Given the description of an element on the screen output the (x, y) to click on. 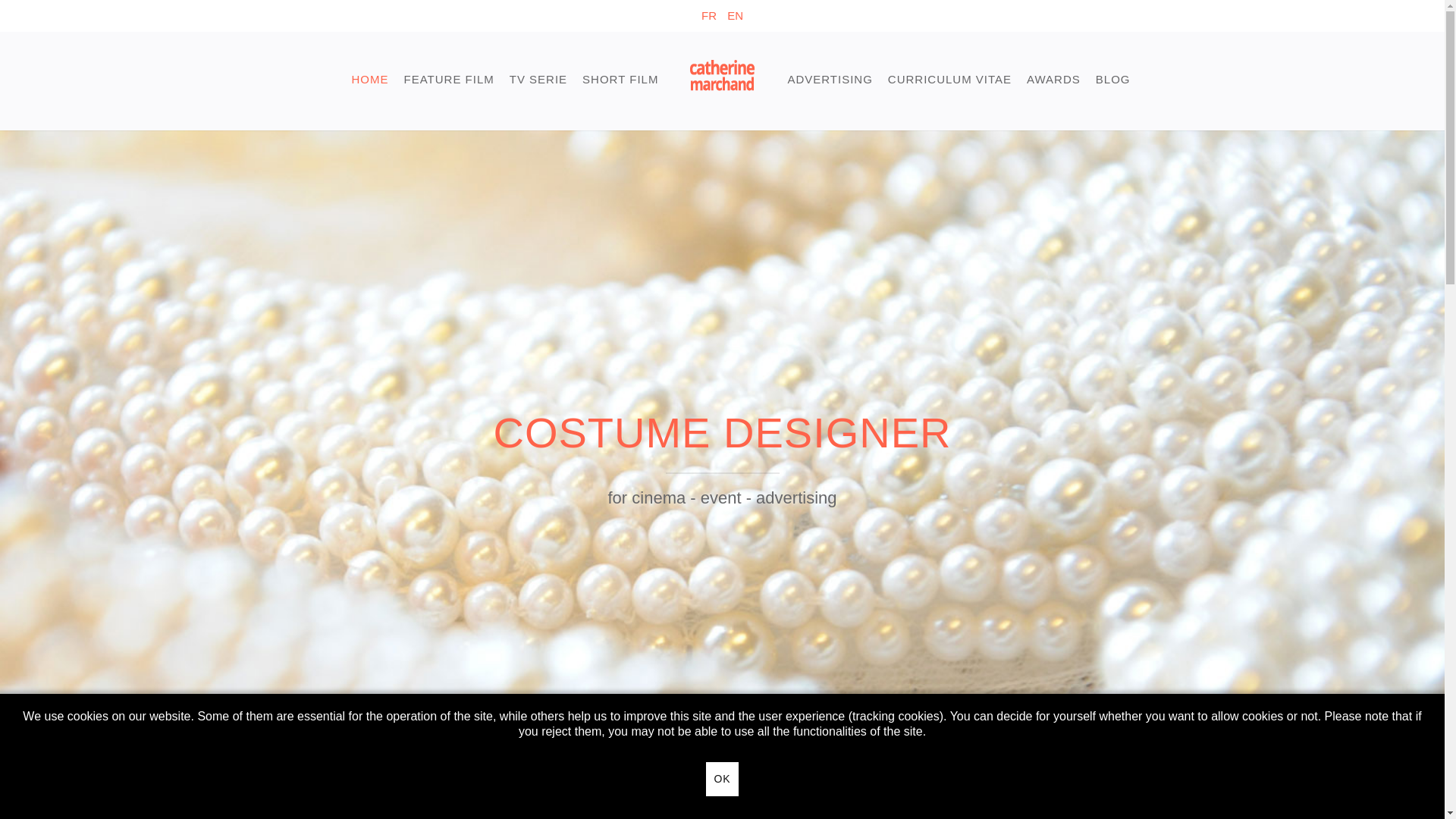
SHORT FILM Element type: text (619, 78)
HOME Element type: text (370, 78)
ADVERTISING Element type: text (829, 78)
TV SERIE Element type: text (538, 78)
FEATURE FILM Element type: text (449, 78)
OK Element type: text (721, 779)
EN Element type: text (735, 15)
AWARDS Element type: text (1053, 78)
BLOG Element type: text (1113, 78)
CURRICULUM VITAE Element type: text (949, 78)
FR Element type: text (710, 15)
